Given the description of an element on the screen output the (x, y) to click on. 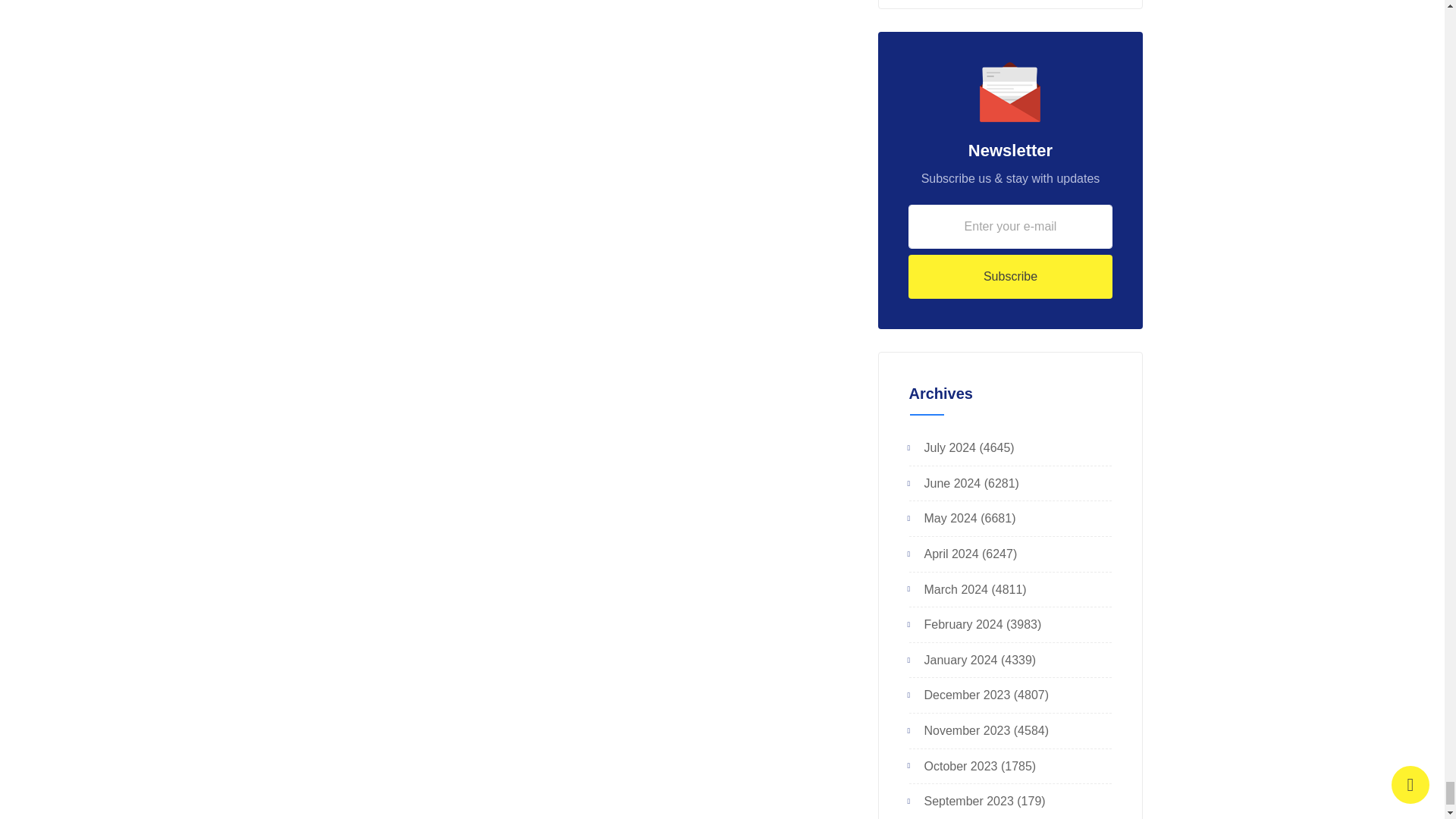
Subscribe (1010, 276)
